Given the description of an element on the screen output the (x, y) to click on. 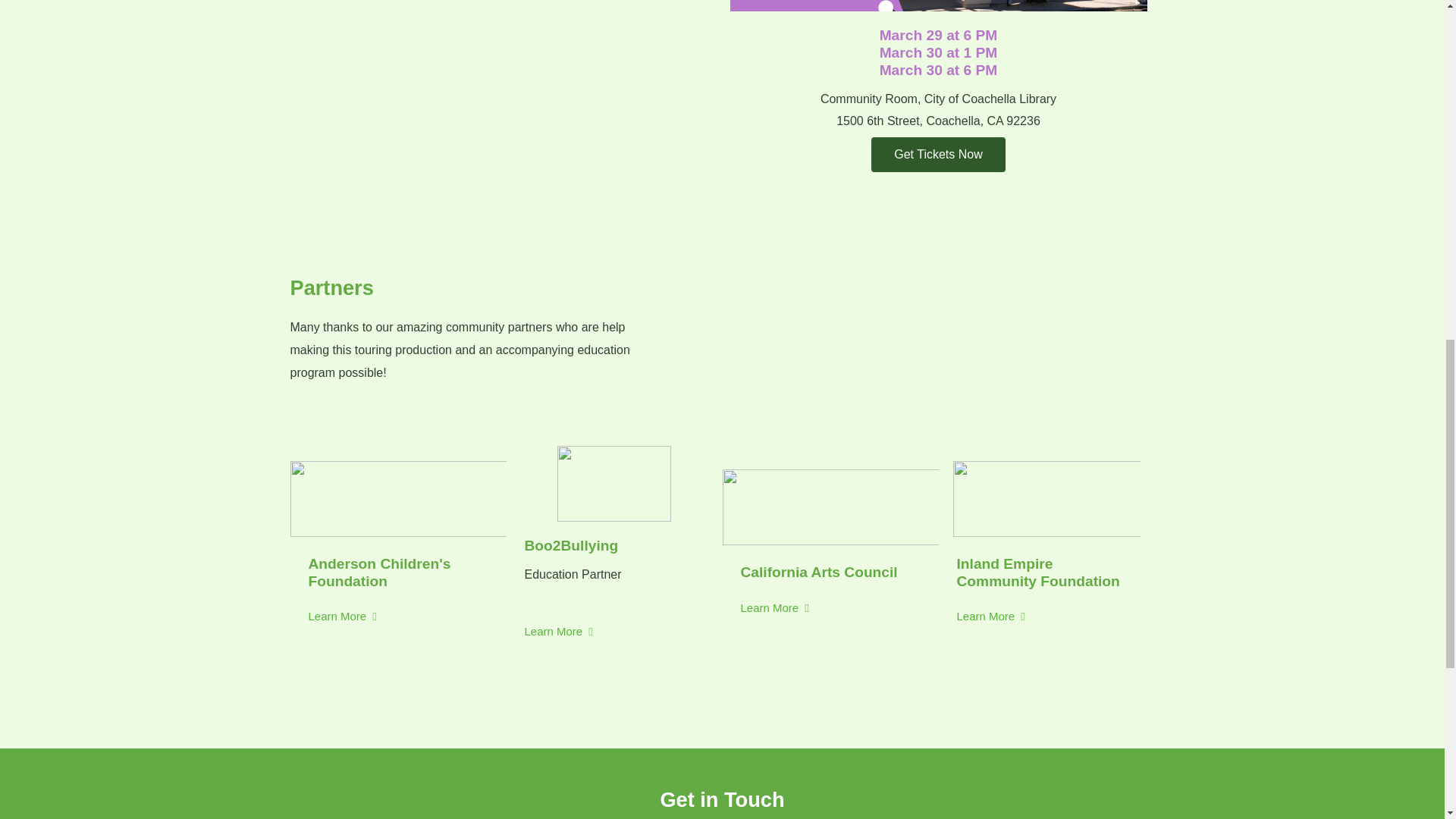
Learn More (558, 631)
Get Tickets Now (937, 154)
Learn More (341, 616)
